Given the description of an element on the screen output the (x, y) to click on. 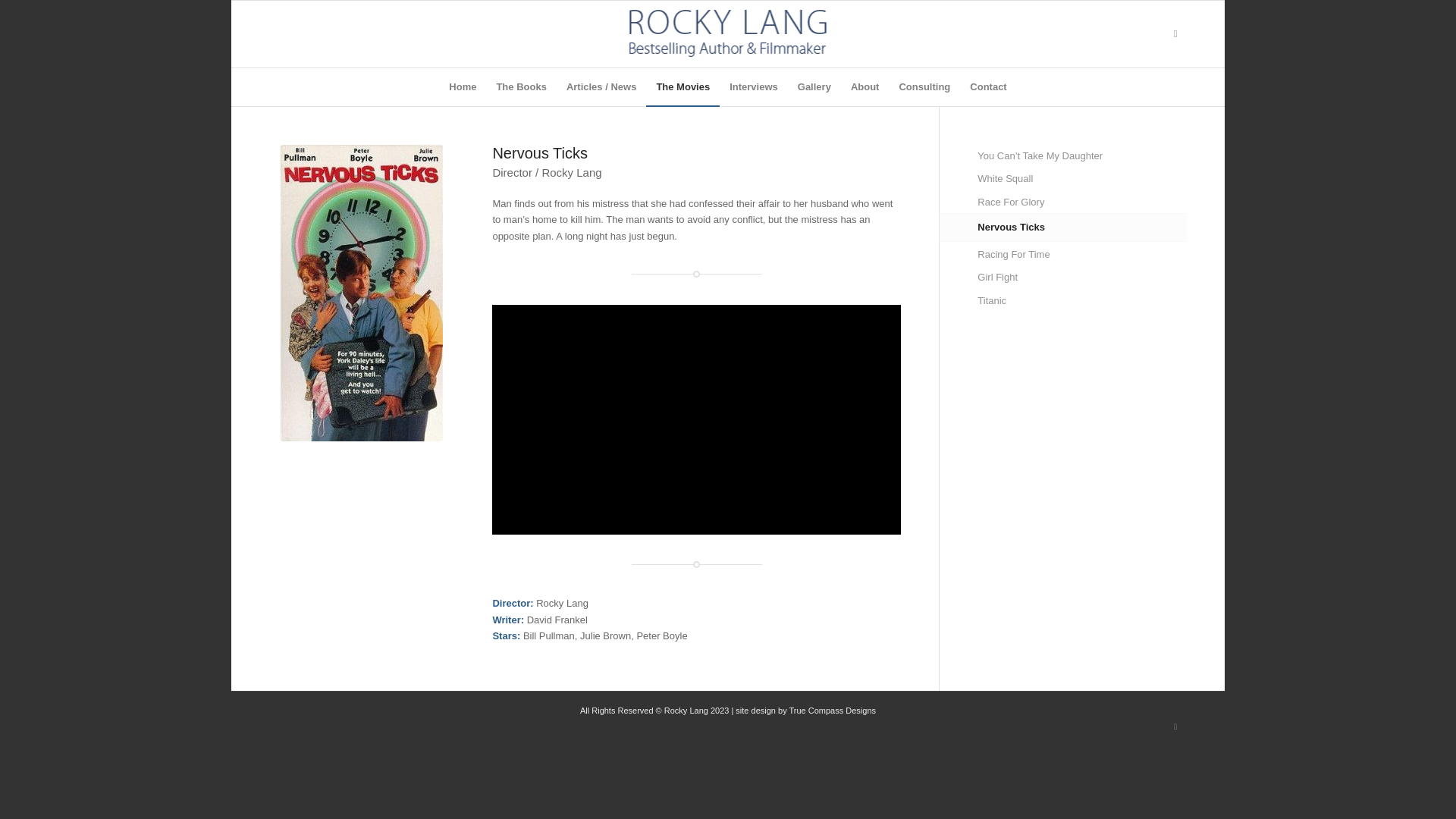
Consulting (923, 86)
Interviews (753, 86)
Rocky-Lang-Logo (727, 33)
About (865, 86)
Home (462, 86)
Gallery (814, 86)
The Books (521, 86)
Rocky-Lang-Logo (727, 31)
The Movies (682, 86)
